Given the description of an element on the screen output the (x, y) to click on. 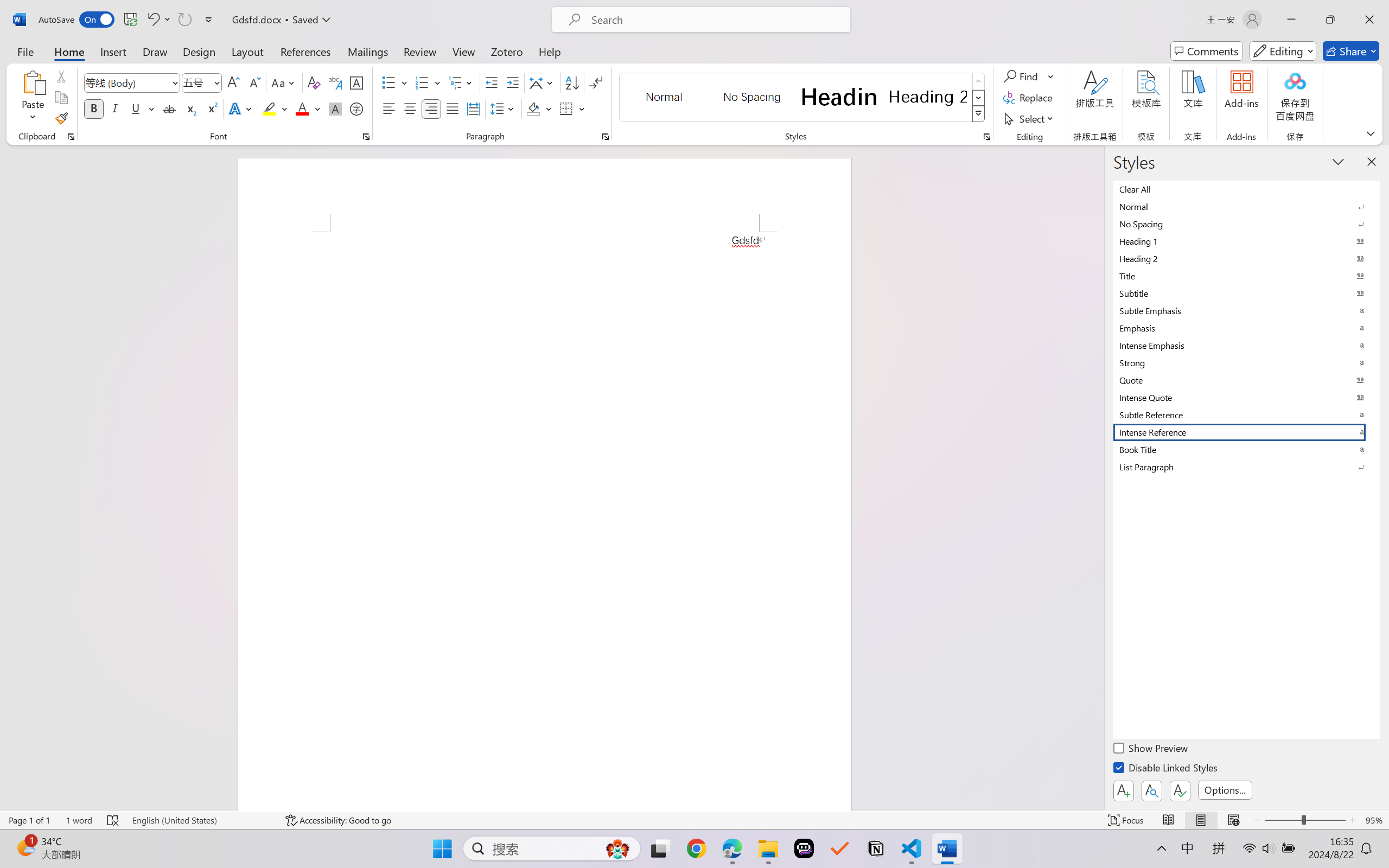
Text Highlight Color (274, 108)
Subtle Reference (1246, 414)
Decrease Indent (491, 82)
Font Color Red (302, 108)
Font Color (308, 108)
Undo Paragraph Alignment (152, 19)
Font... (365, 136)
Format Painter (60, 118)
Justify (452, 108)
Multilevel List (461, 82)
